Given the description of an element on the screen output the (x, y) to click on. 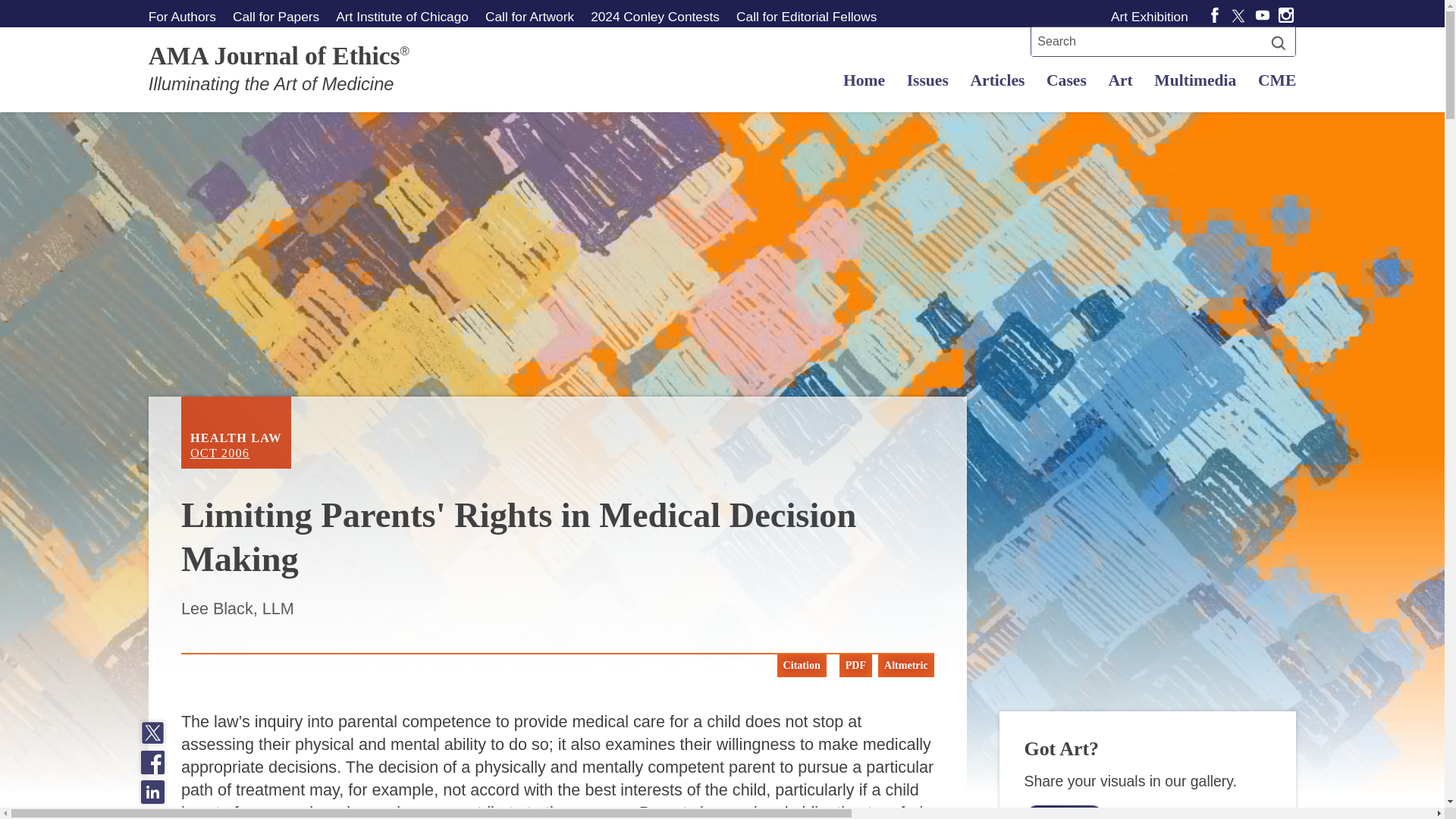
Search (1278, 42)
Multimedia (235, 432)
alt (1194, 80)
Art (1064, 812)
Home (1120, 80)
Call for Editorial Fellows (863, 80)
Cases (805, 15)
Skip to main content (1065, 80)
